Given the description of an element on the screen output the (x, y) to click on. 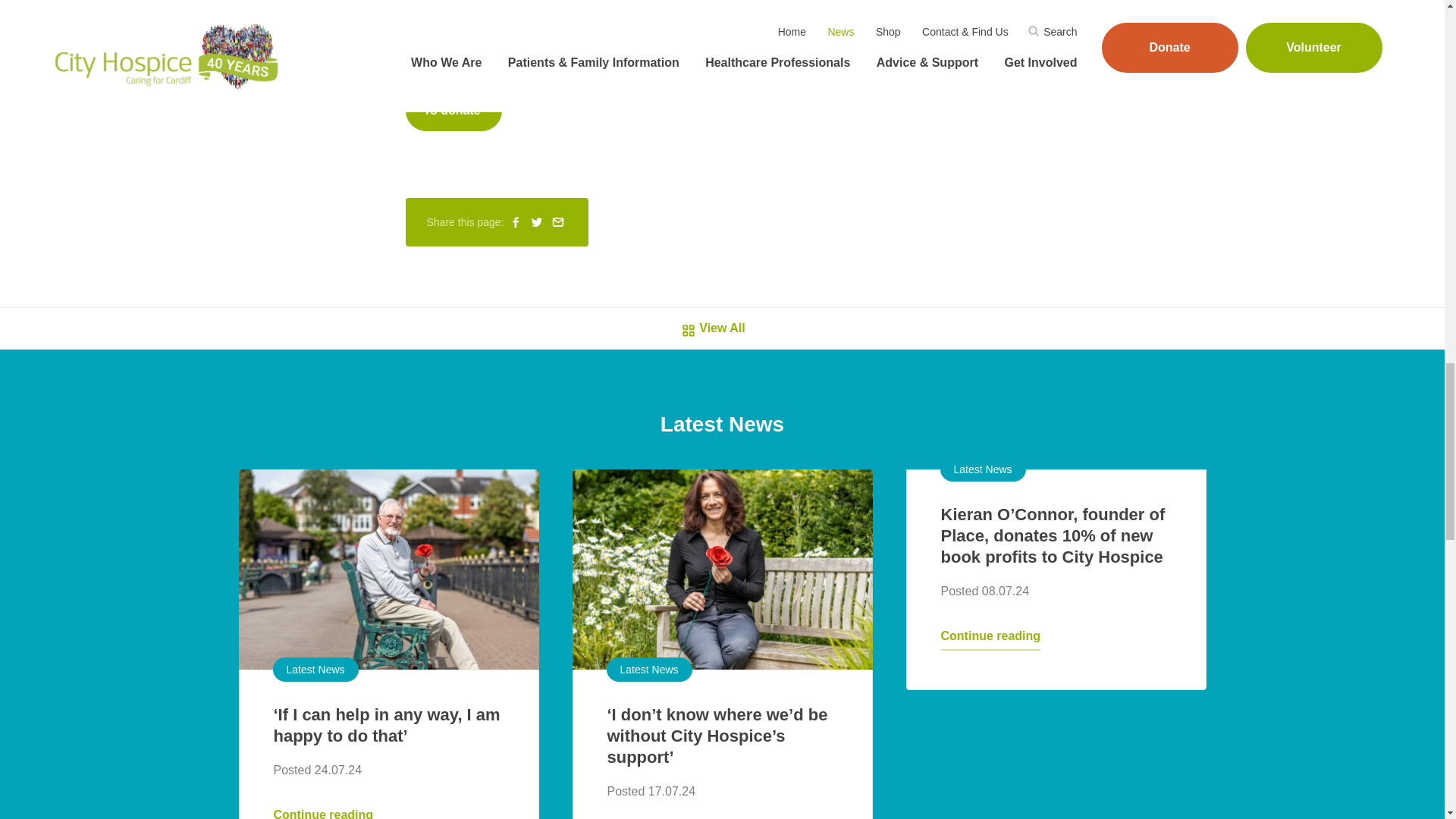
Share on Twitter (536, 221)
Share on Facebook (515, 221)
Continue reading (990, 638)
Email to a friend (557, 221)
Continue reading (322, 812)
